Given the description of an element on the screen output the (x, y) to click on. 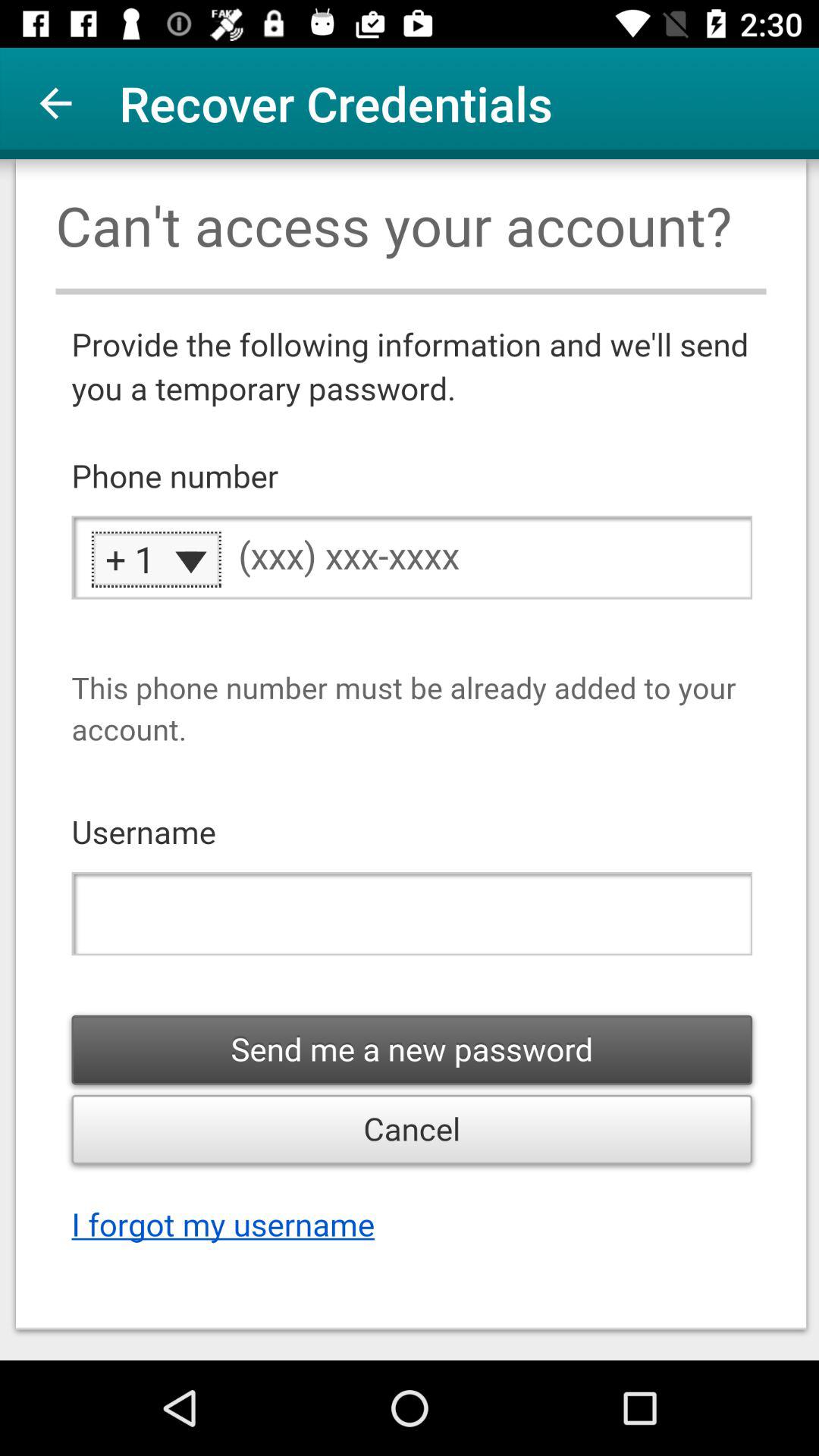
options to access account (409, 759)
